Given the description of an element on the screen output the (x, y) to click on. 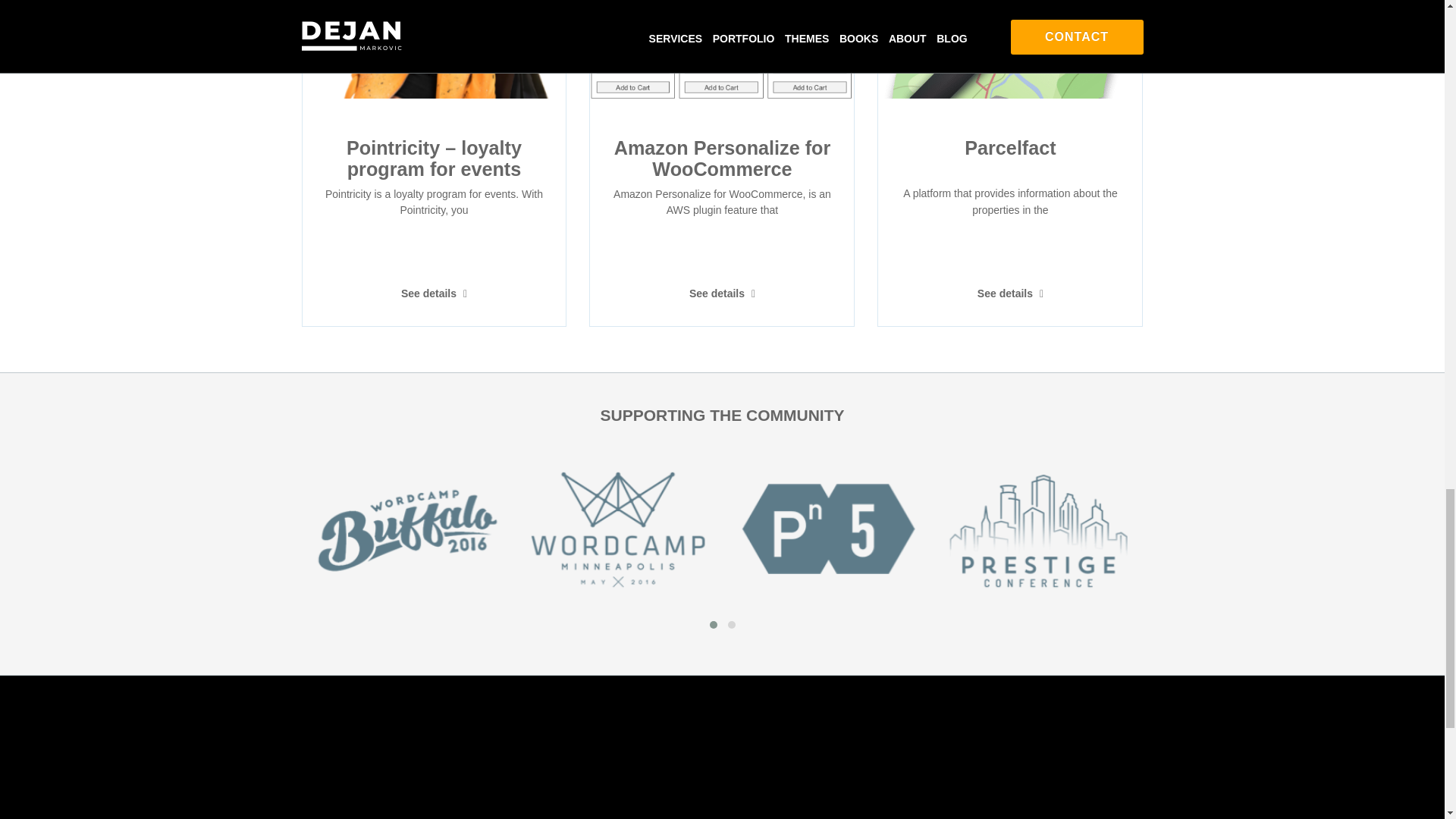
See details (1009, 293)
Parcelfact (1009, 147)
See details (434, 293)
See details (721, 293)
Amazon Personalize for WooCommerce (722, 158)
